Given the description of an element on the screen output the (x, y) to click on. 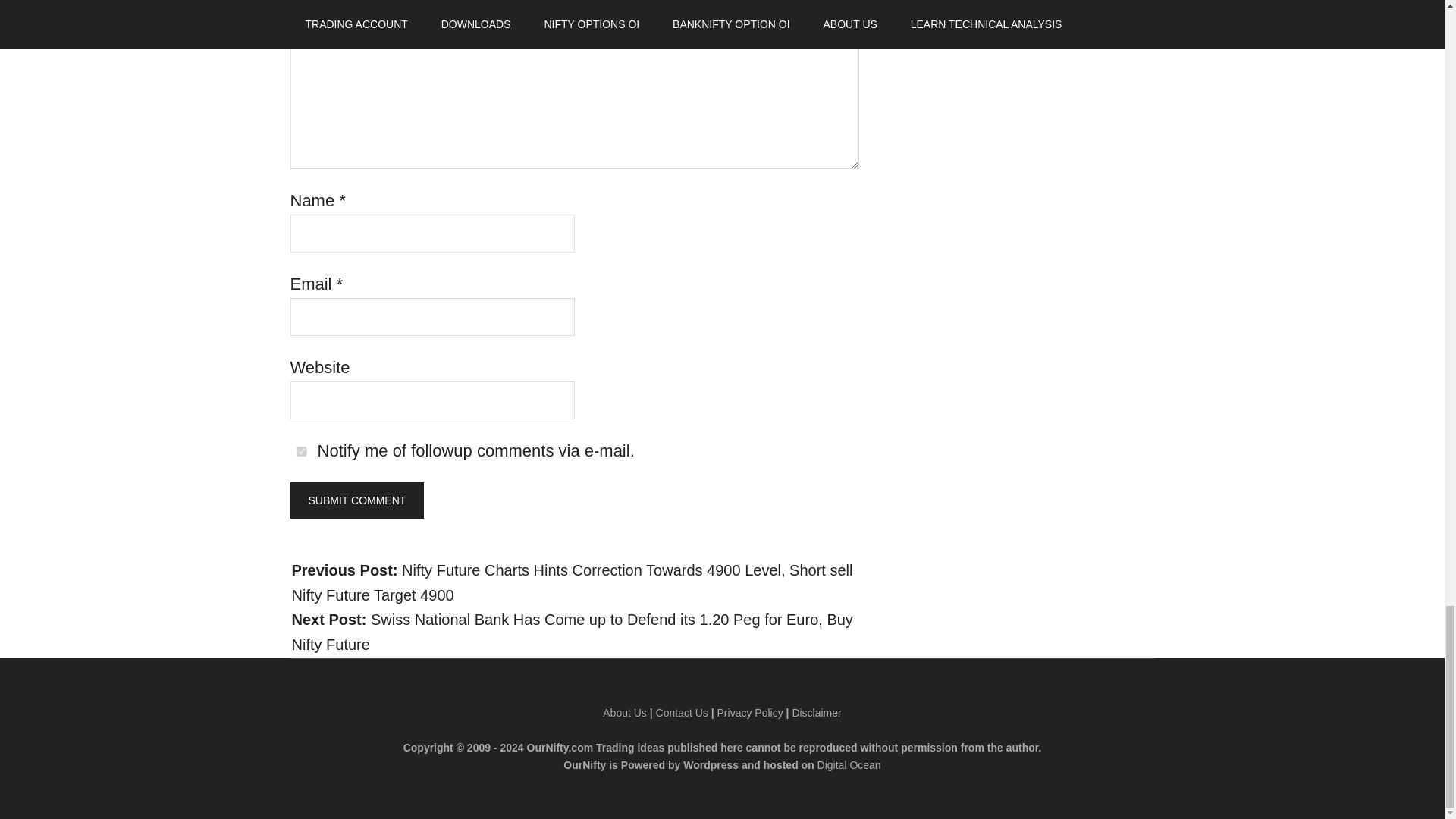
yes (301, 451)
Submit Comment (356, 500)
